Given the description of an element on the screen output the (x, y) to click on. 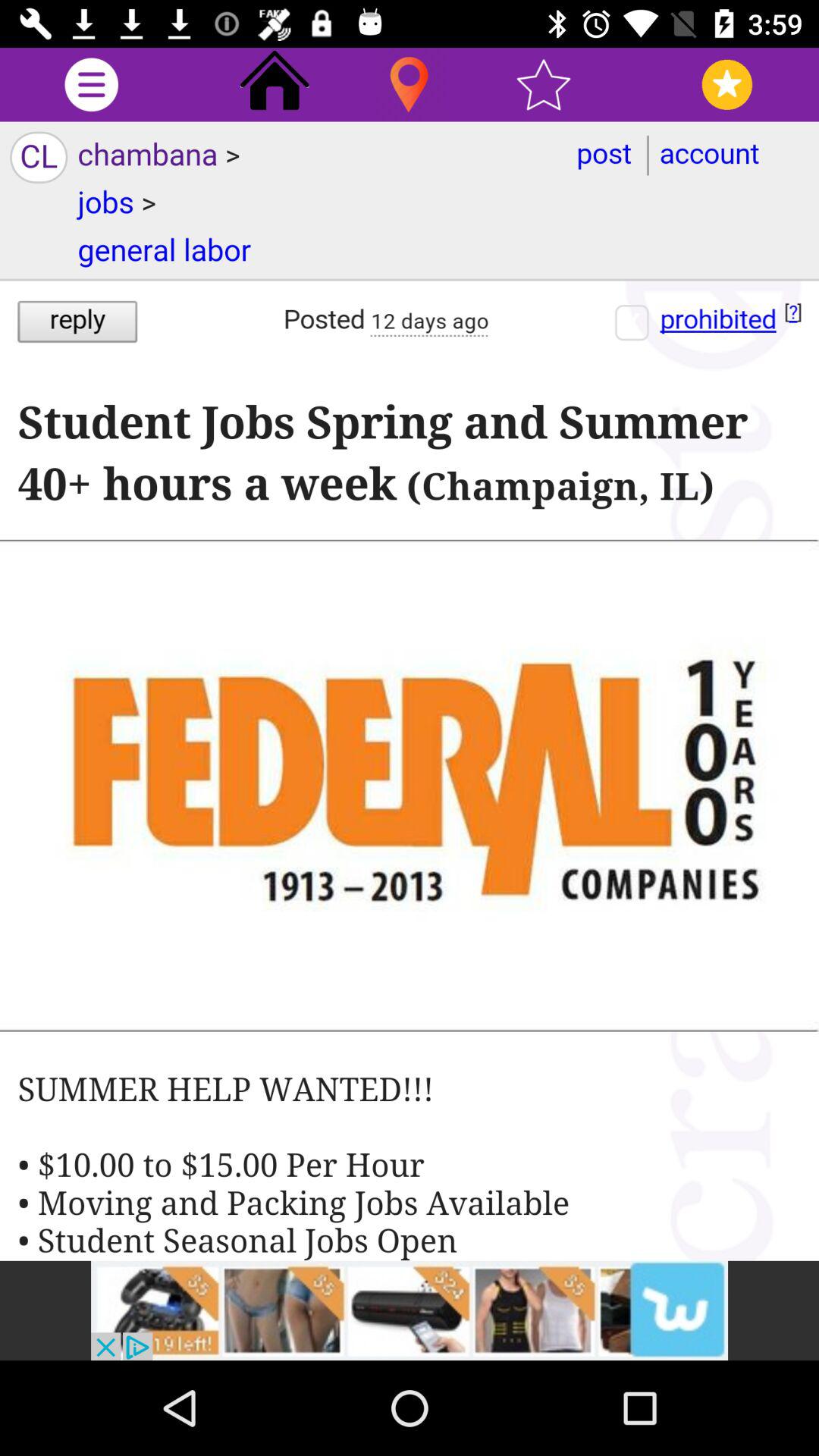
home button (274, 84)
